Given the description of an element on the screen output the (x, y) to click on. 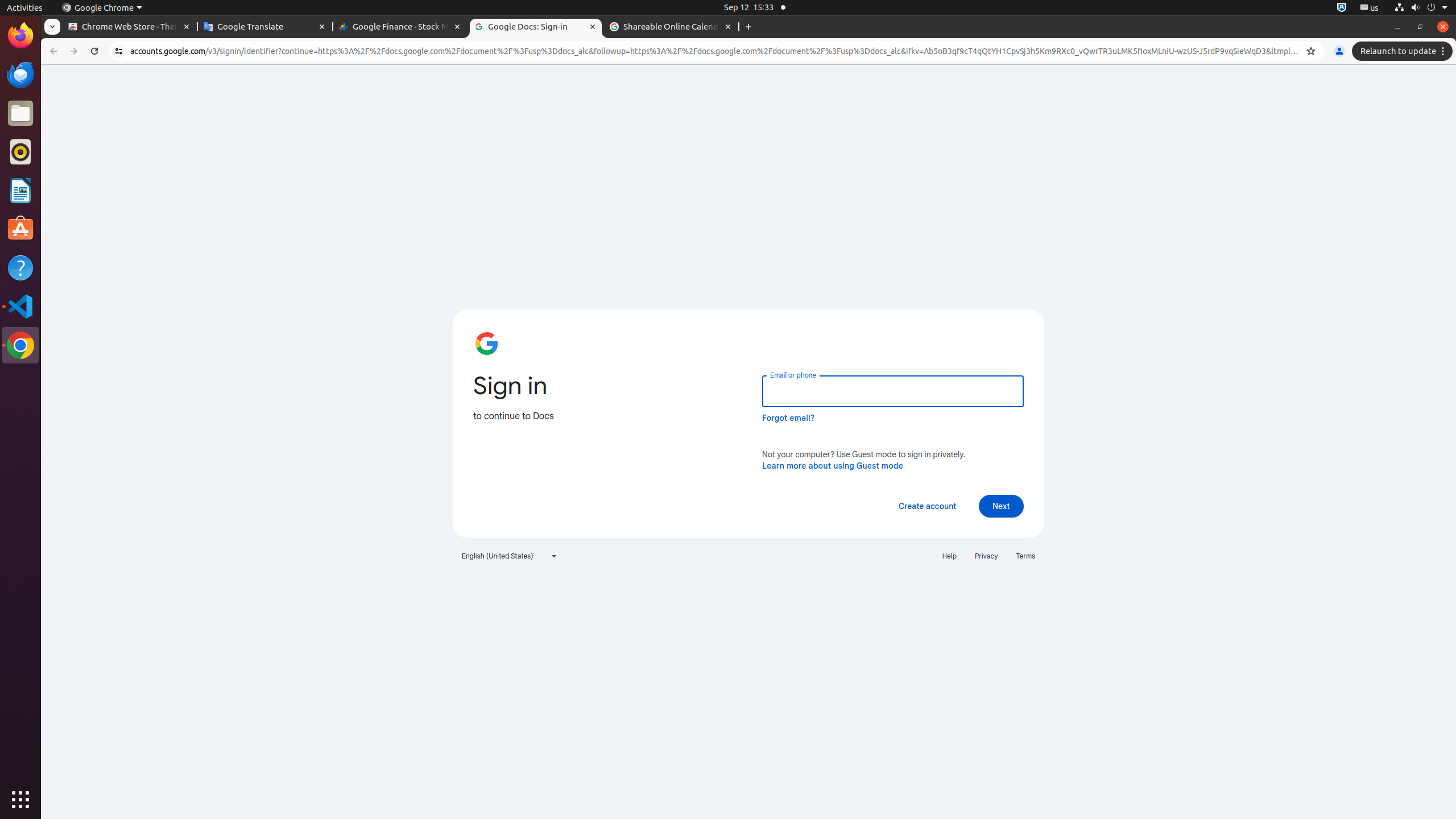
Google Chrome Element type: push-button (20, 344)
Google Finance - Stock Market Prices, Real-time Quotes & Business News - Memory usage - 51.5 MB Element type: page-tab (400, 26)
Forgot email? Element type: push-button (788, 417)
Show Applications Element type: toggle-button (20, 799)
Visual Studio Code Element type: push-button (20, 306)
